Given the description of an element on the screen output the (x, y) to click on. 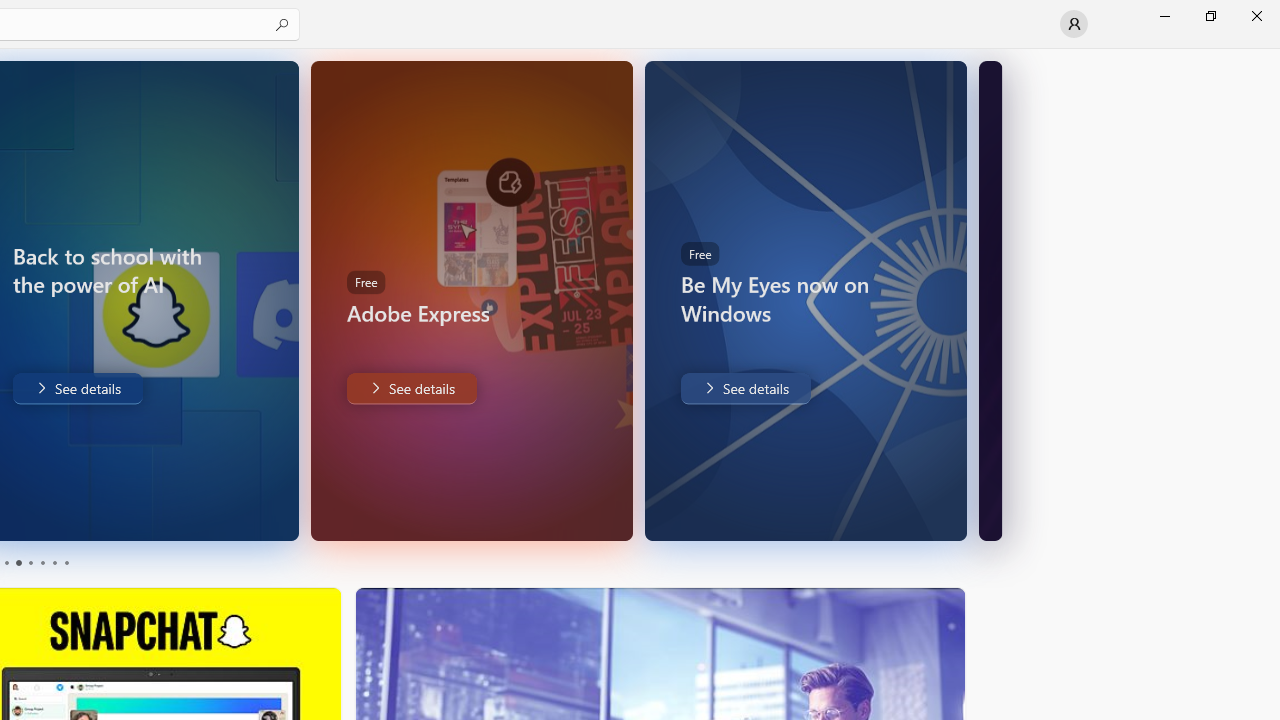
Page 4 (41, 562)
Page 6 (65, 562)
Pager (35, 562)
AutomationID: Image (989, 300)
Page 3 (29, 562)
Page 2 (17, 562)
Page 5 (54, 562)
Page 1 (5, 562)
